Given the description of an element on the screen output the (x, y) to click on. 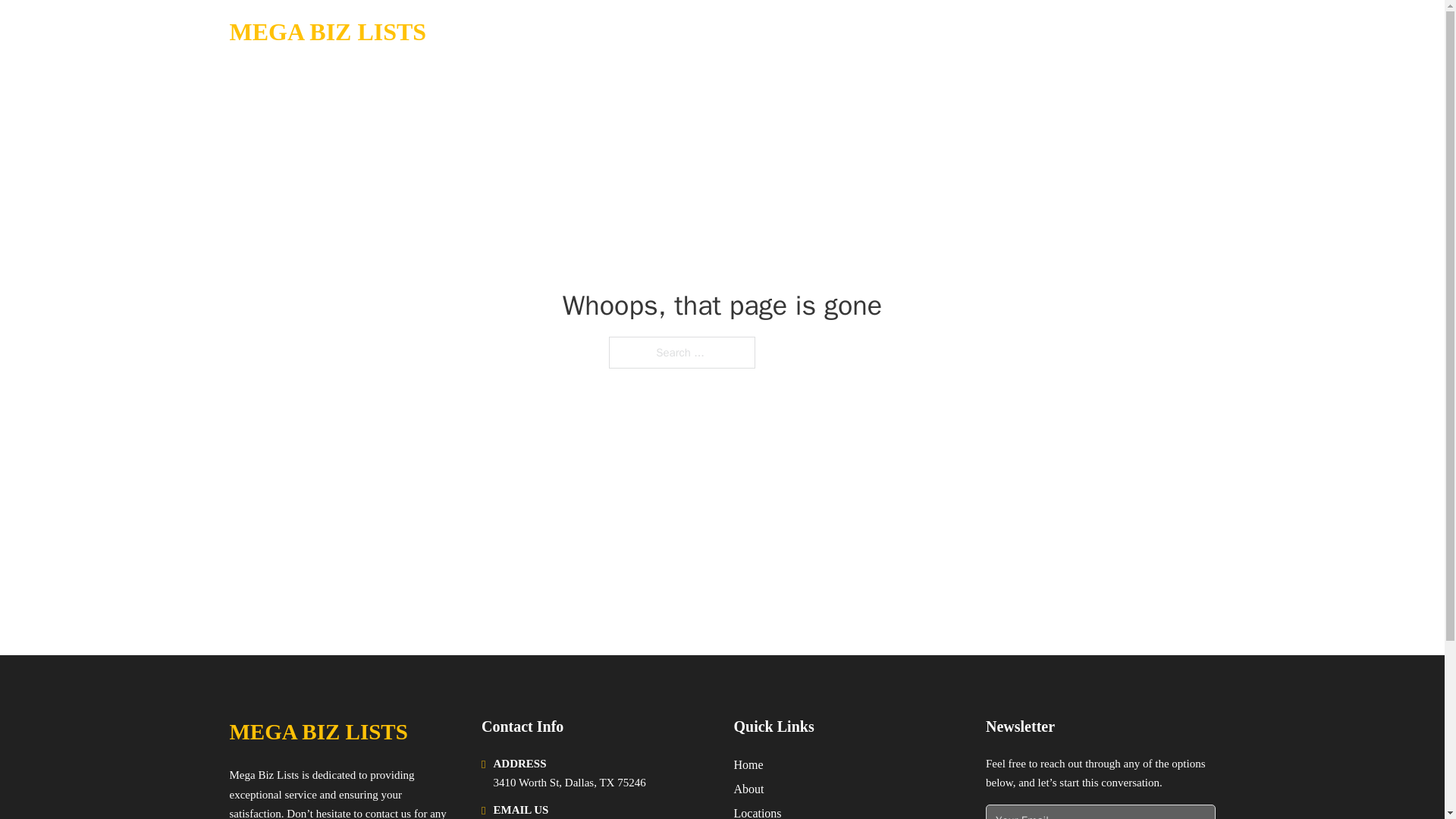
HOME (1025, 31)
LOCATIONS (1098, 31)
About (748, 788)
Home (747, 764)
MEGA BIZ LISTS (317, 732)
MEGA BIZ LISTS (327, 31)
Locations (757, 811)
